Given the description of an element on the screen output the (x, y) to click on. 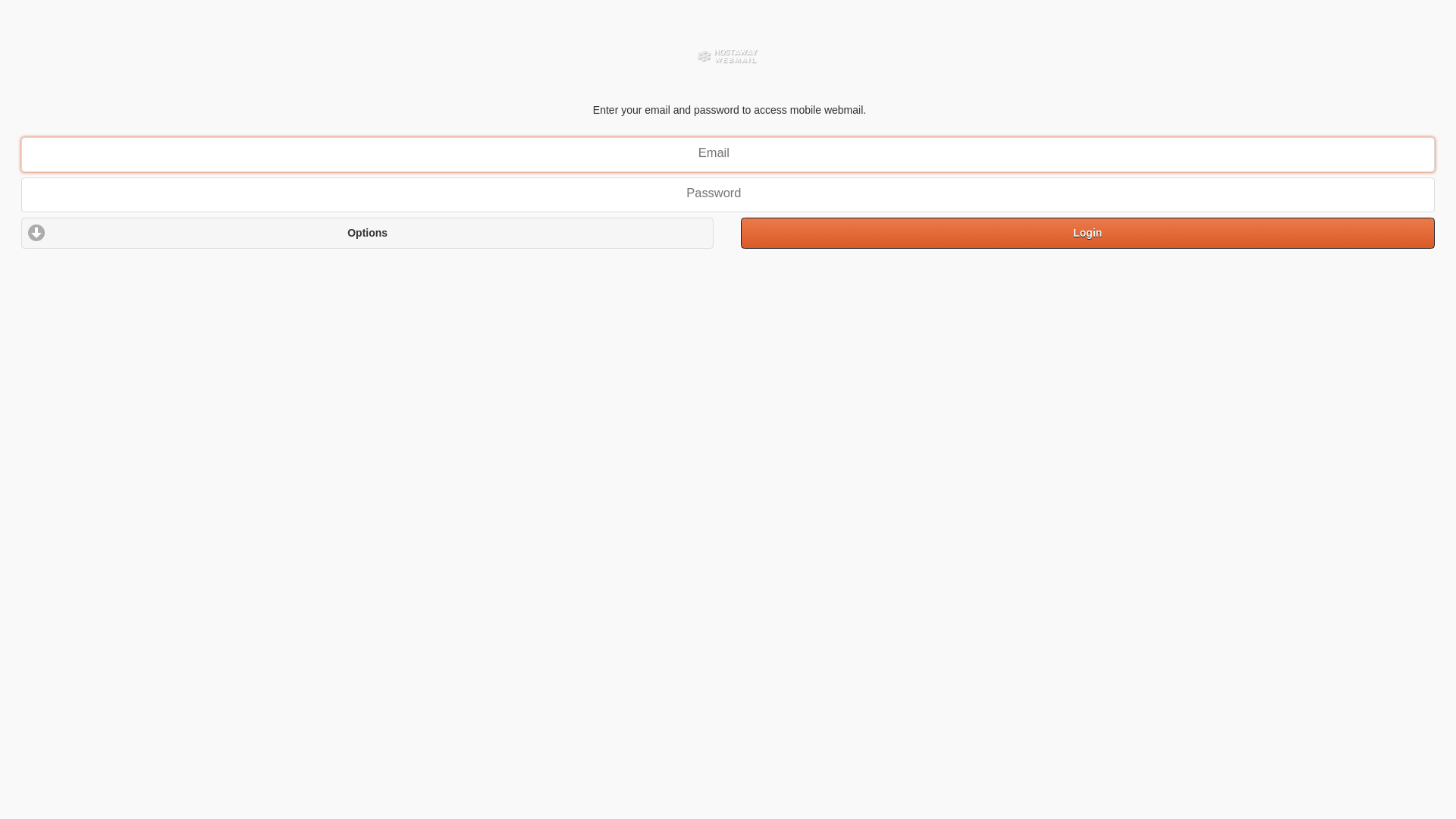
Options Element type: text (367, 232)
Login Element type: text (1087, 232)
